Given the description of an element on the screen output the (x, y) to click on. 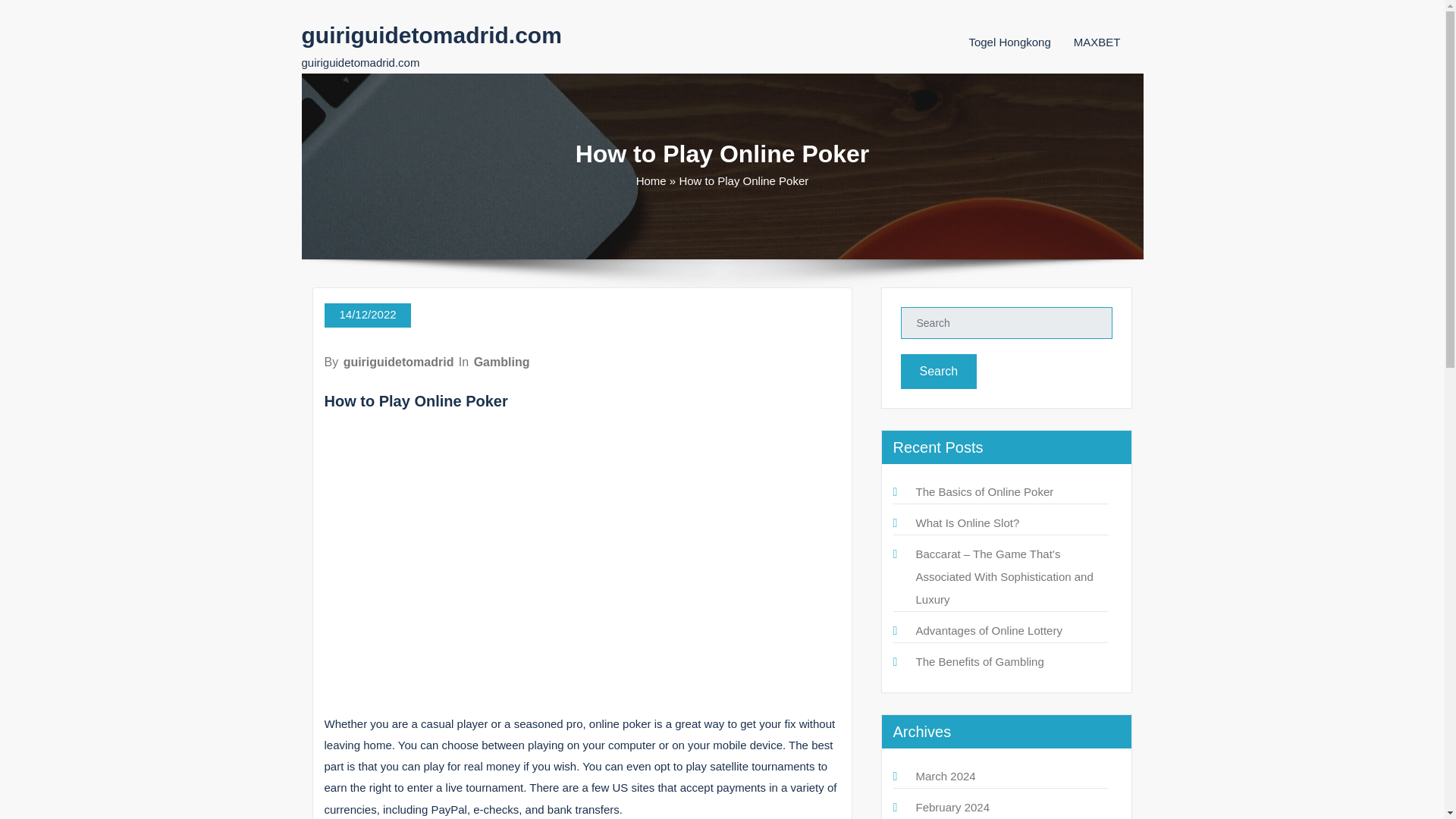
The Benefits of Gambling (979, 661)
Advantages of Online Lottery (988, 630)
Togel Hongkong (1008, 41)
What Is Online Slot? (967, 522)
guiriguidetomadrid (398, 361)
The Basics of Online Poker (984, 491)
Search (938, 371)
guiriguidetomadrid.com (431, 34)
Gambling (501, 361)
February 2024 (952, 807)
MAXBET (1097, 41)
March 2024 (945, 775)
Home (651, 180)
